Given the description of an element on the screen output the (x, y) to click on. 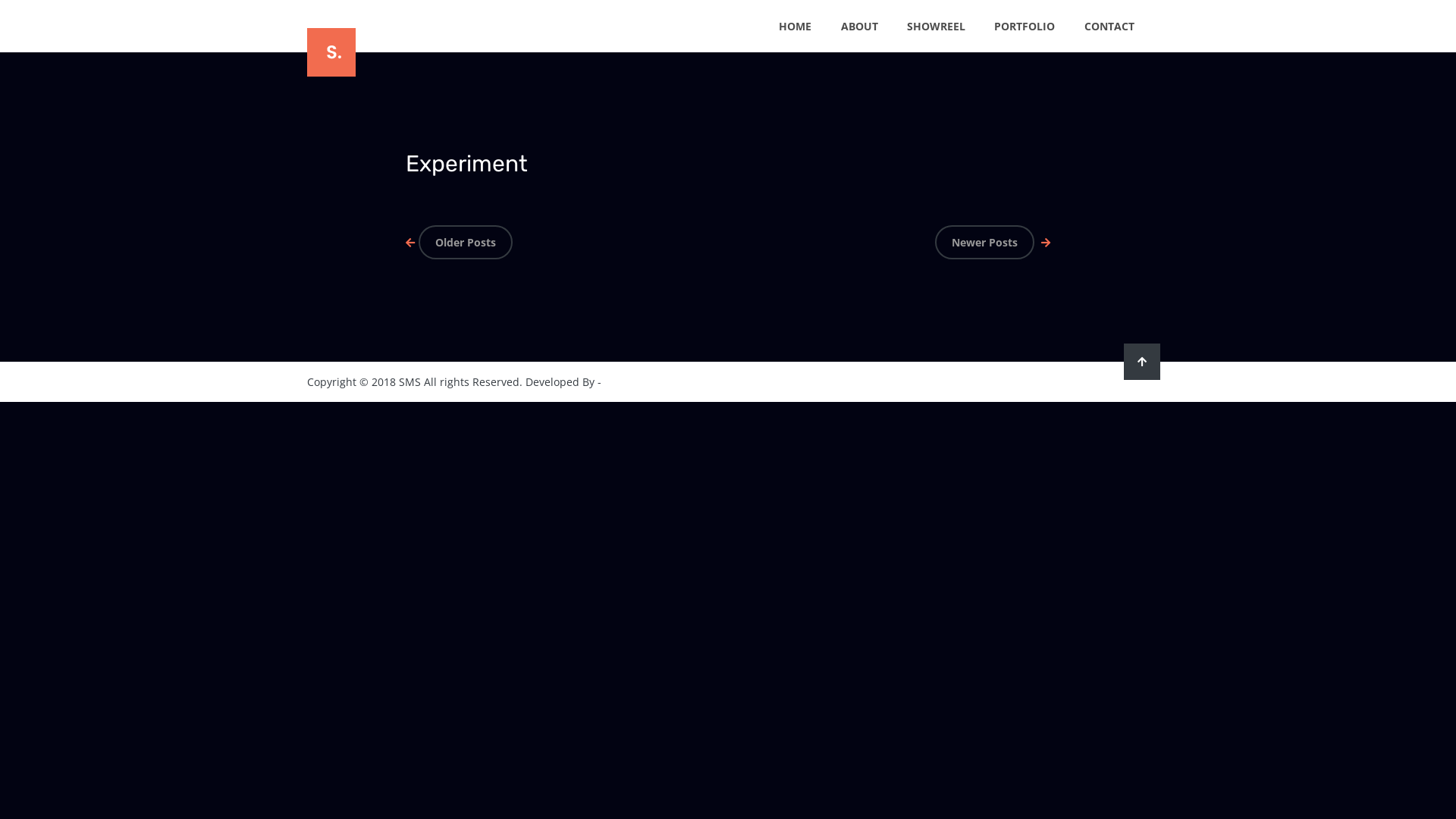
Older Posts Element type: text (460, 242)
PORTFOLIO Element type: text (1024, 26)
Newer Posts Element type: text (990, 242)
CONTACT Element type: text (1109, 26)
SHOWREEL Element type: text (935, 26)
HOME Element type: text (794, 26)
ABOUT Element type: text (859, 26)
